Given the description of an element on the screen output the (x, y) to click on. 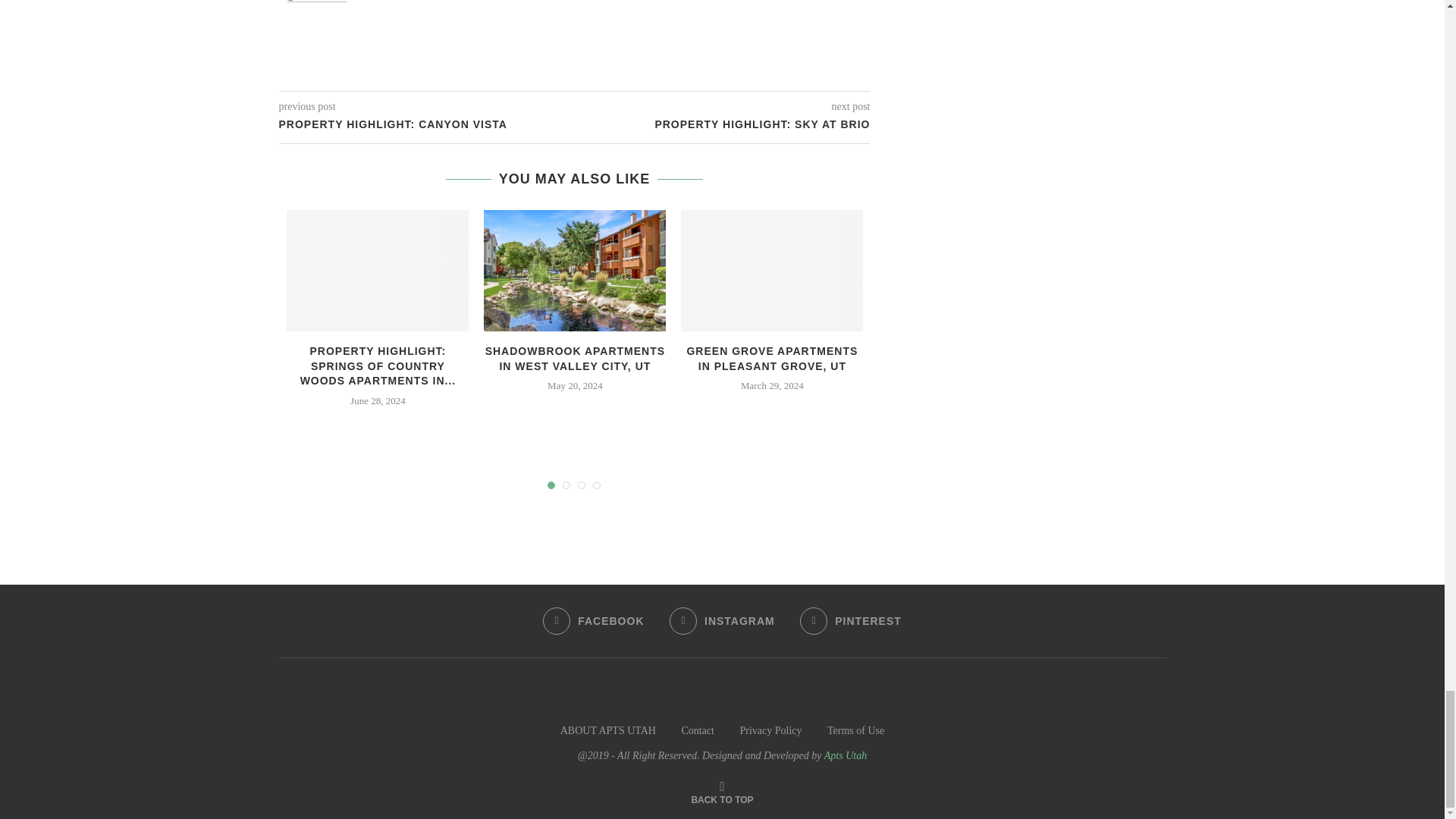
Green Grove Apartments in Pleasant Grove, UT (772, 270)
Shadowbrook Apartments in West Valley City, UT (574, 270)
